Given the description of an element on the screen output the (x, y) to click on. 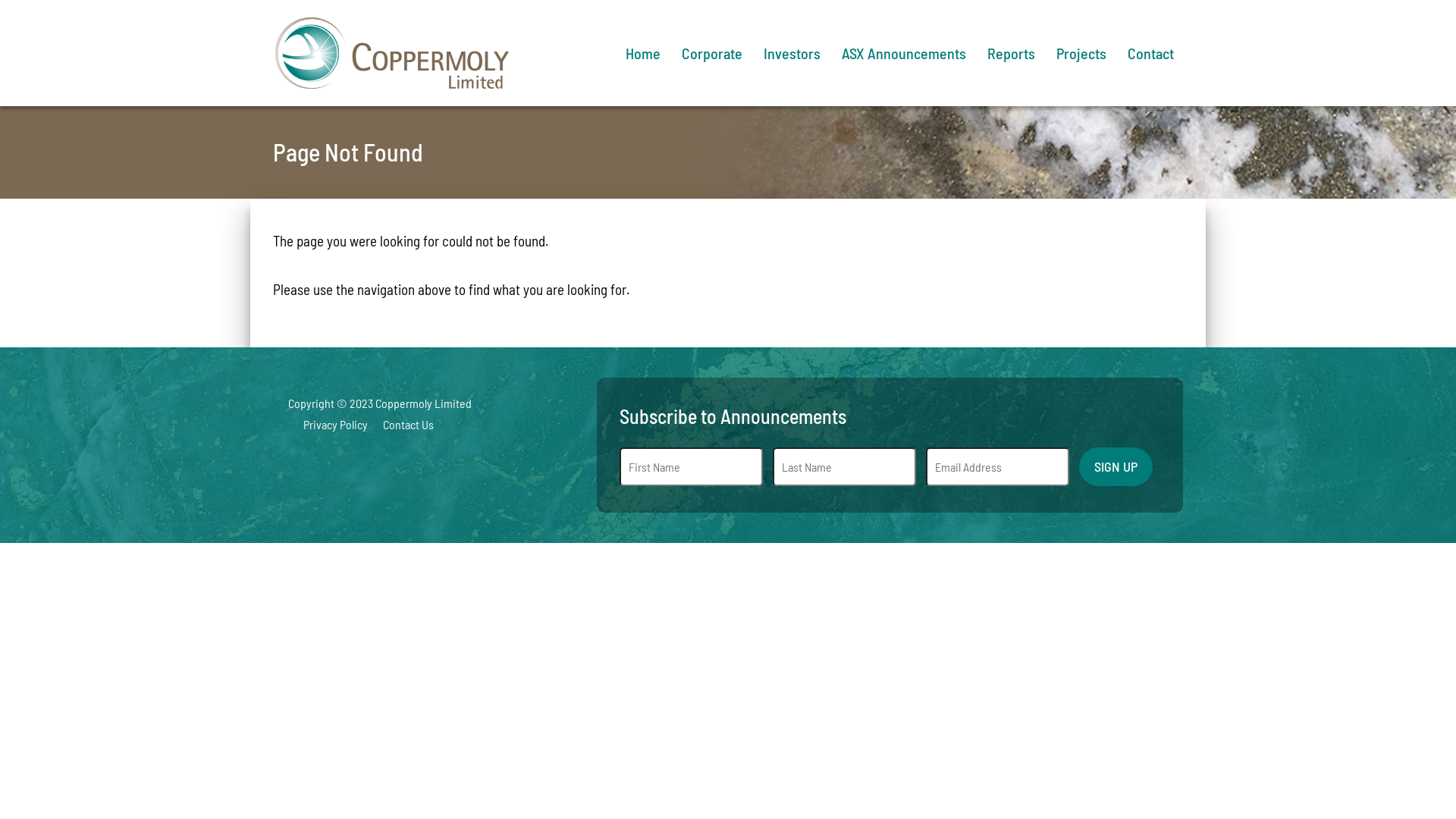
Corporate Element type: text (711, 53)
Sign up Element type: text (1115, 466)
Contact Us Element type: text (400, 424)
ASX Announcements Element type: text (903, 53)
Home Element type: text (642, 53)
Privacy Policy Element type: text (327, 424)
Contact Element type: text (1150, 53)
Projects Element type: text (1081, 53)
Reports Element type: text (1011, 53)
Investors Element type: text (791, 53)
